Given the description of an element on the screen output the (x, y) to click on. 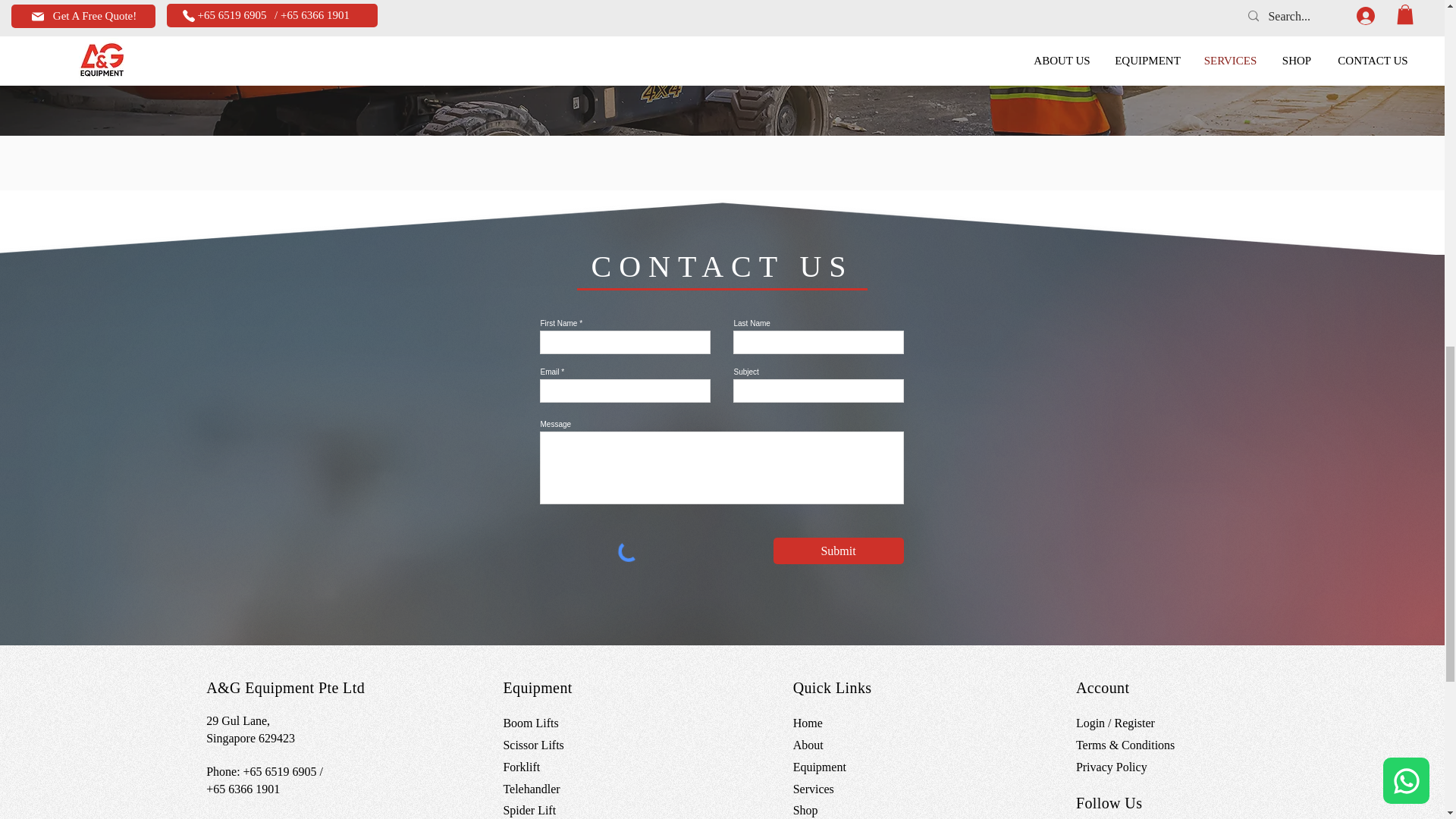
Forklift (521, 766)
Scissor Lifts (532, 744)
Telehandler (530, 788)
Boom Lifts (529, 722)
Submit (838, 550)
Spider Lift (529, 809)
